Given the description of an element on the screen output the (x, y) to click on. 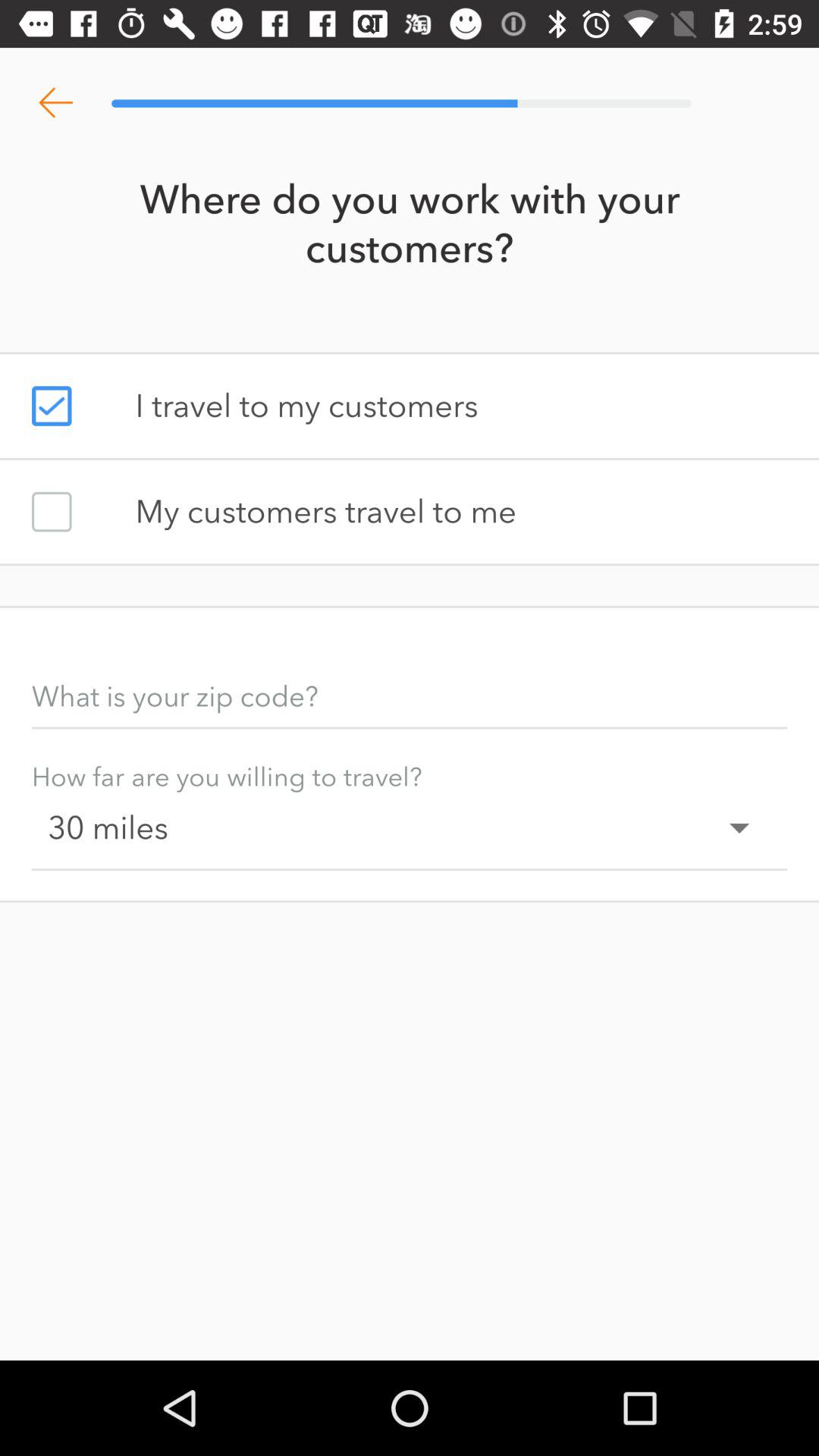
enter zip code (409, 696)
